Given the description of an element on the screen output the (x, y) to click on. 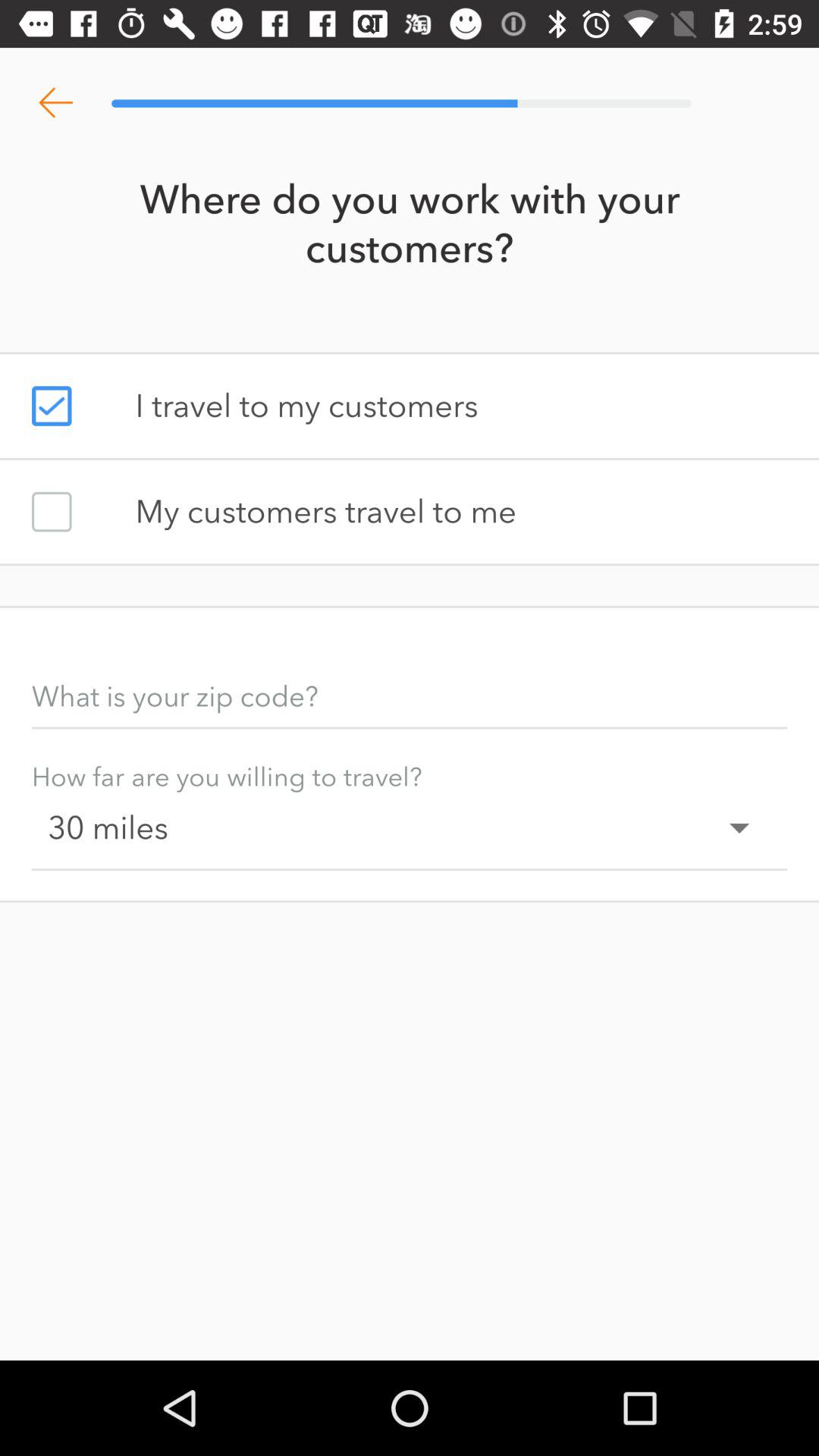
enter zip code (409, 696)
